Given the description of an element on the screen output the (x, y) to click on. 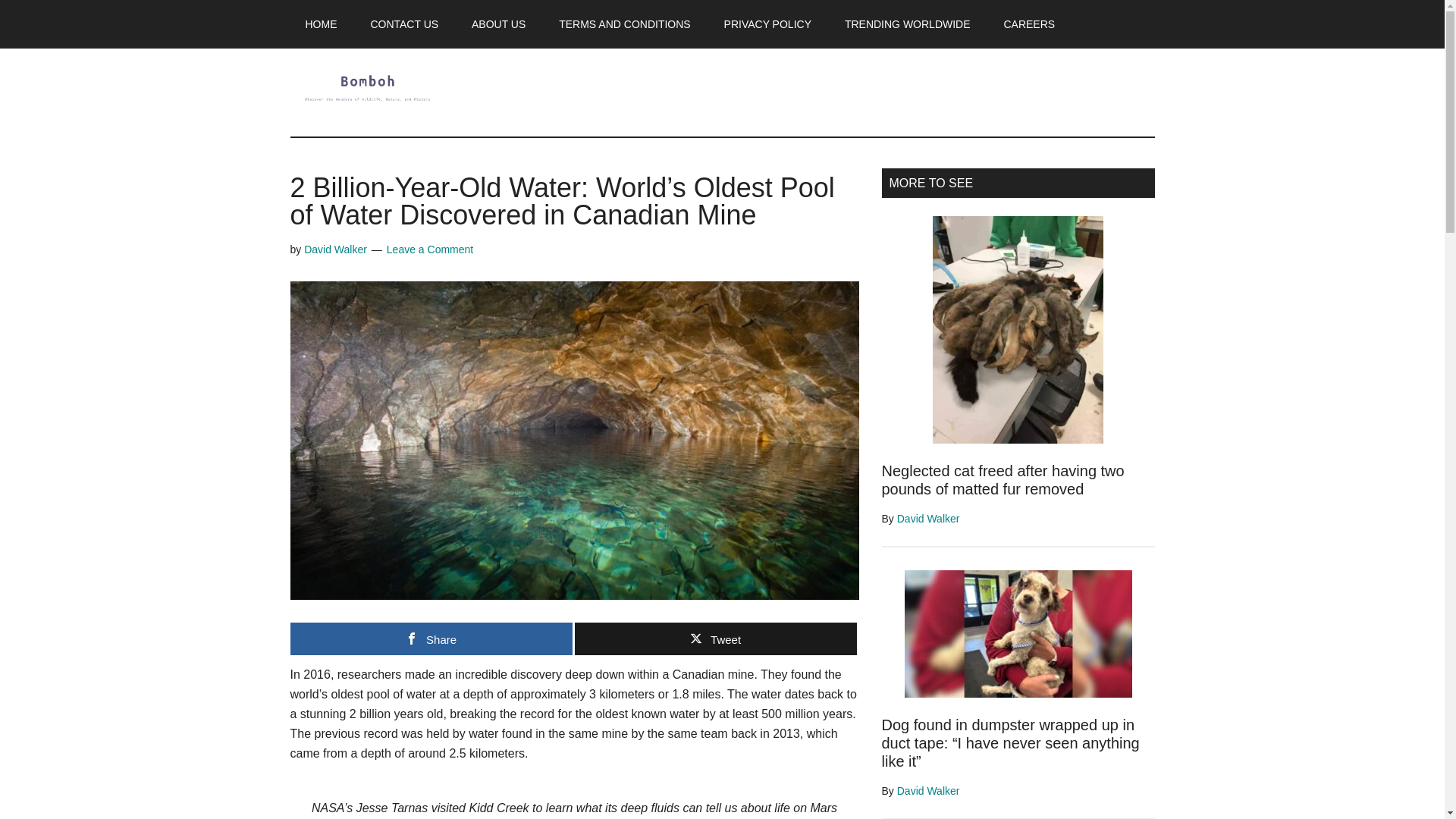
David Walker (927, 518)
TRENDING WORLDWIDE (907, 24)
Leave a Comment (430, 249)
CONTACT US (403, 24)
TERMS AND CONDITIONS (623, 24)
Share (430, 638)
CAREERS (1029, 24)
David Walker (335, 249)
HOME (320, 24)
ABOUT US (498, 24)
PRIVACY POLICY (768, 24)
Tweet (716, 638)
David Walker (927, 790)
